Given the description of an element on the screen output the (x, y) to click on. 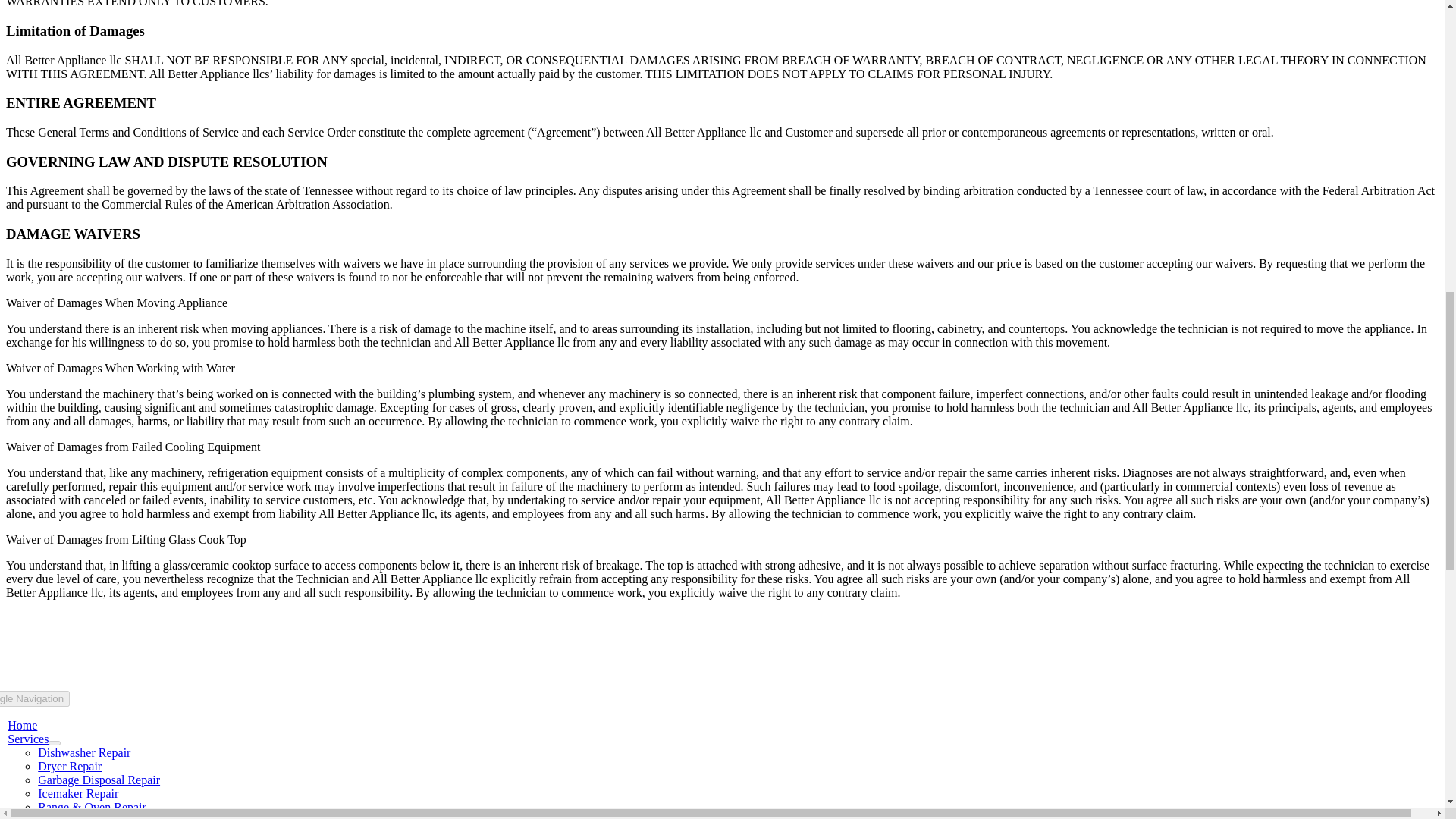
Home (22, 725)
Services (27, 738)
Toggle Navigation (34, 698)
Dishwasher Repair (84, 752)
